Given the description of an element on the screen output the (x, y) to click on. 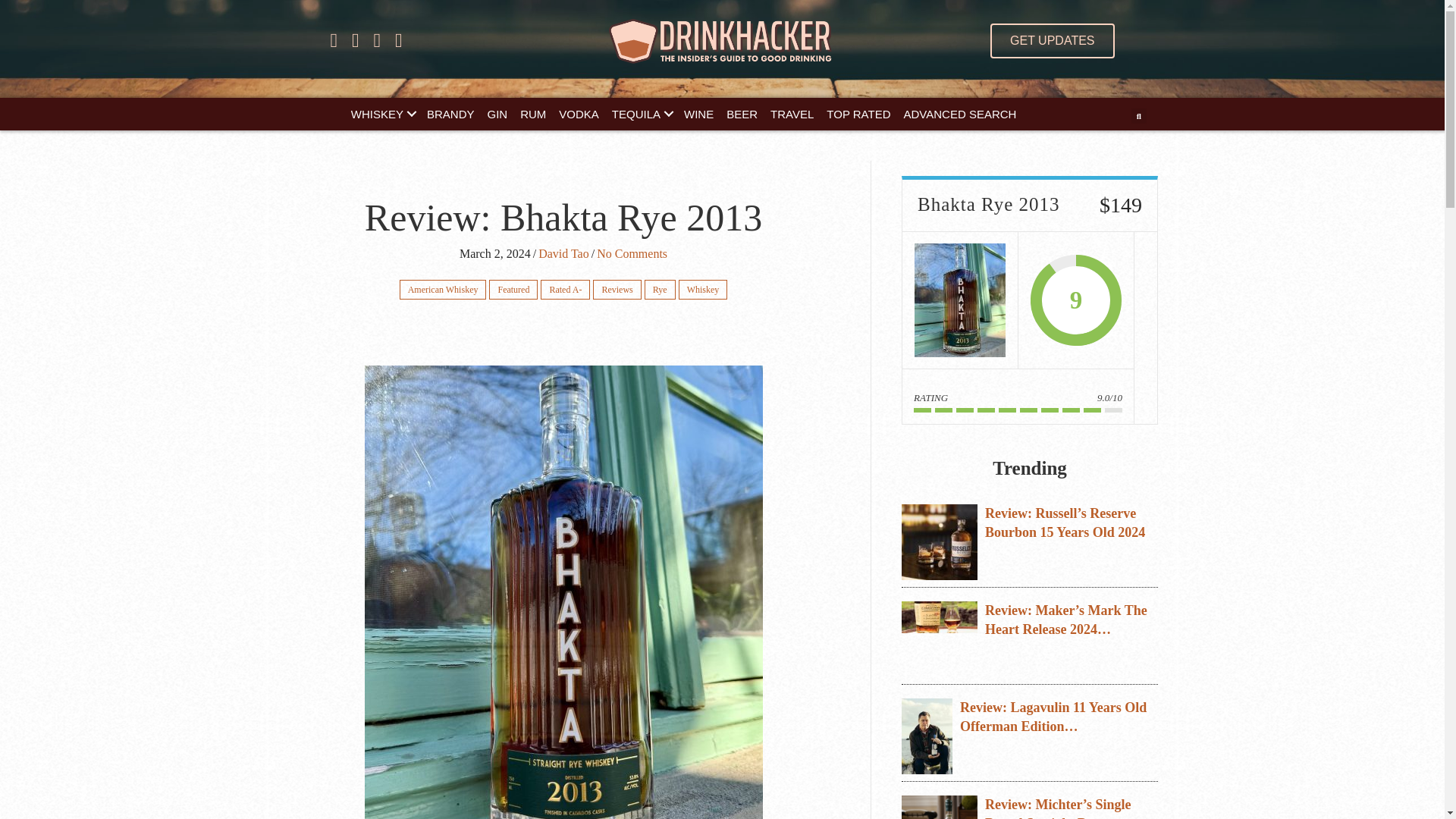
RUM (532, 113)
TEQUILA (641, 113)
ADVANCED SEARCH (960, 113)
BEER (741, 113)
GET UPDATES (1051, 40)
TRAVEL (791, 113)
VODKA (579, 113)
Click Here (1051, 40)
WHISKEY (382, 113)
drinkhacker-logo-pinktag-transparent (721, 40)
